Given the description of an element on the screen output the (x, y) to click on. 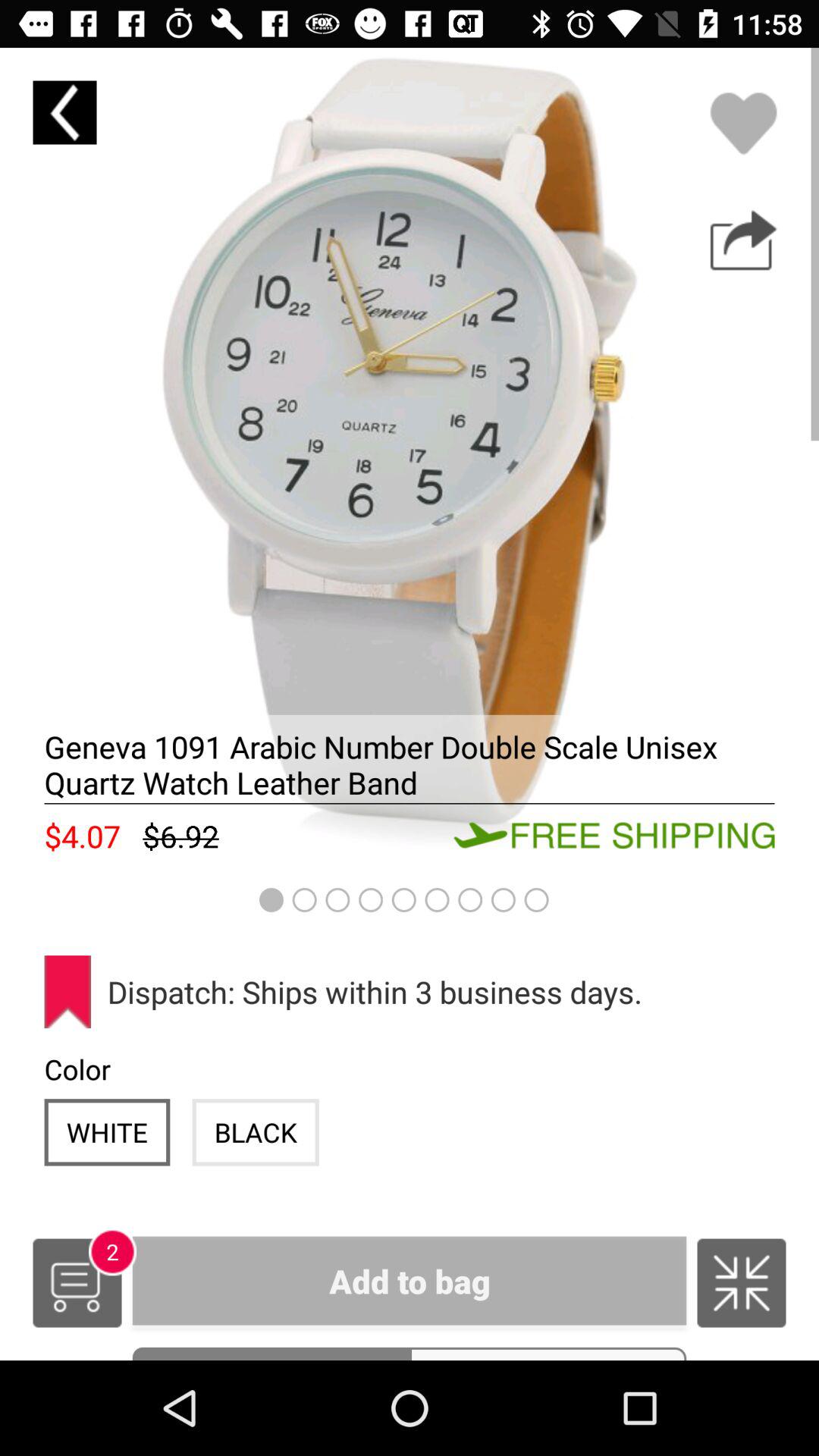
shrink/expand image toggle (741, 1282)
